Given the description of an element on the screen output the (x, y) to click on. 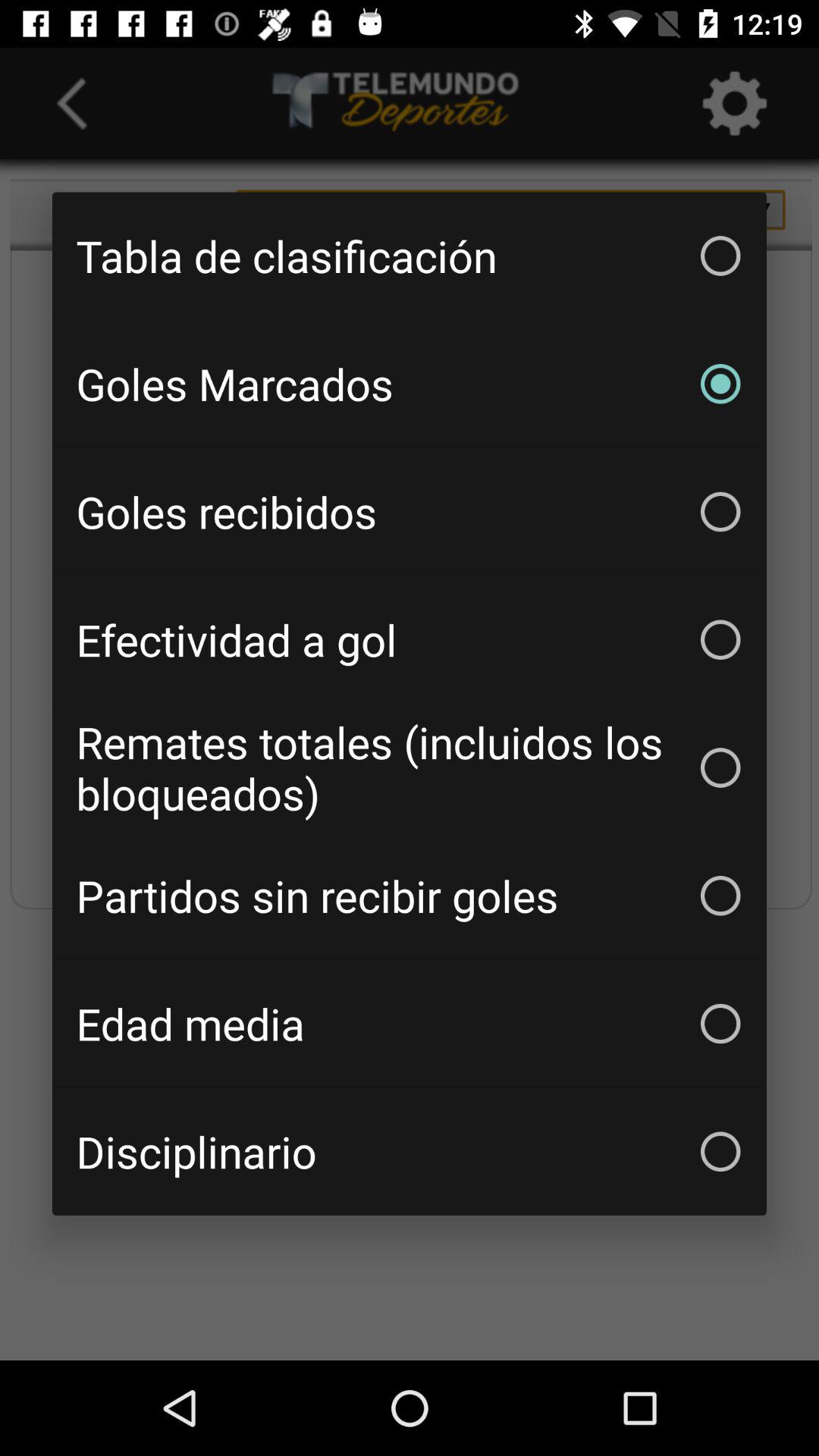
press the efectividad a gol (409, 639)
